Given the description of an element on the screen output the (x, y) to click on. 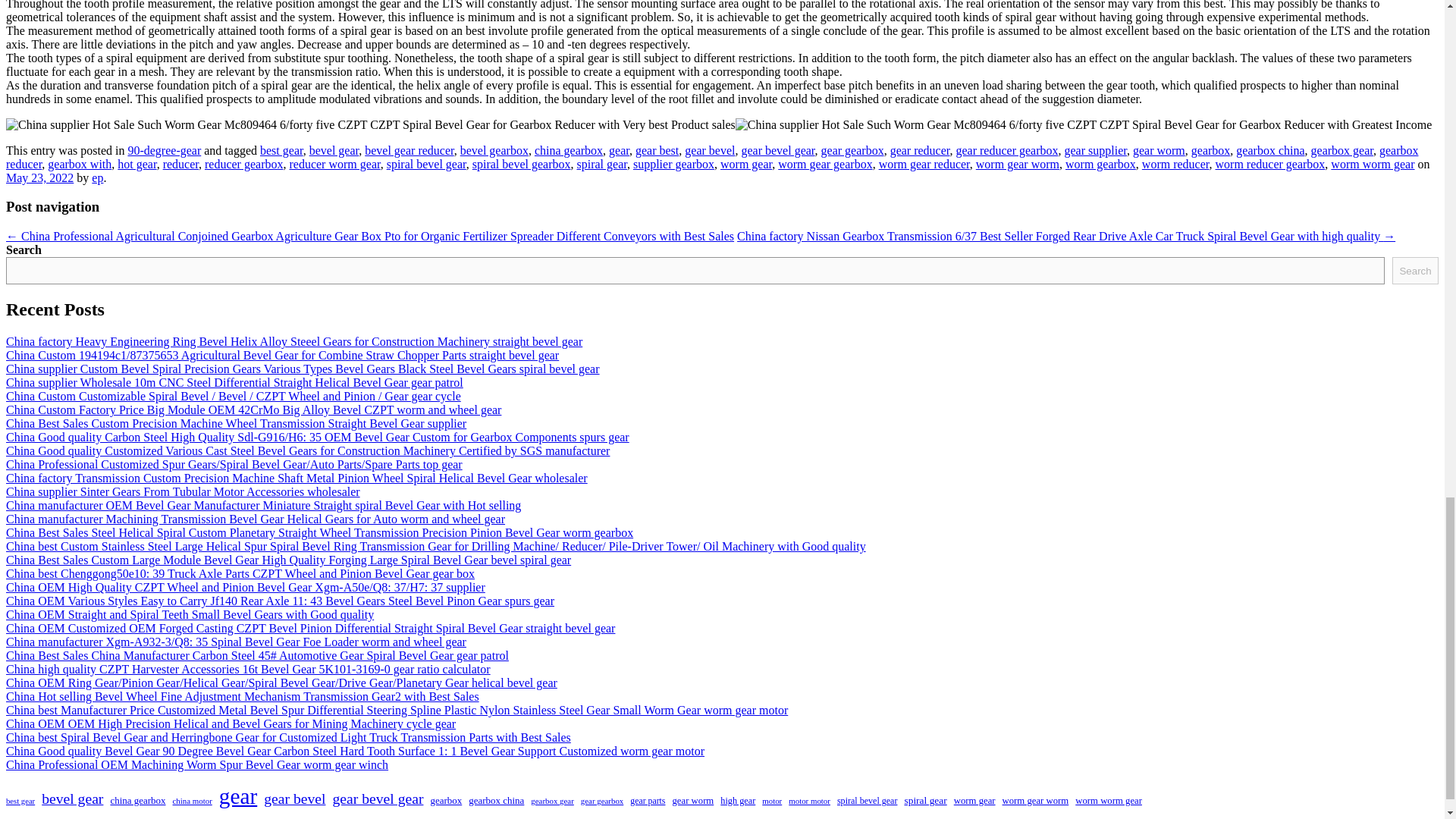
gearbox with (80, 164)
gearbox (1210, 150)
spiral bevel gear (426, 164)
worm gear (745, 164)
gear reducer gearbox (1006, 150)
worm reducer (1175, 164)
gear reducer (919, 150)
7:22 pm (39, 177)
worm gearbox (1100, 164)
gear worm (1158, 150)
